Given the description of an element on the screen output the (x, y) to click on. 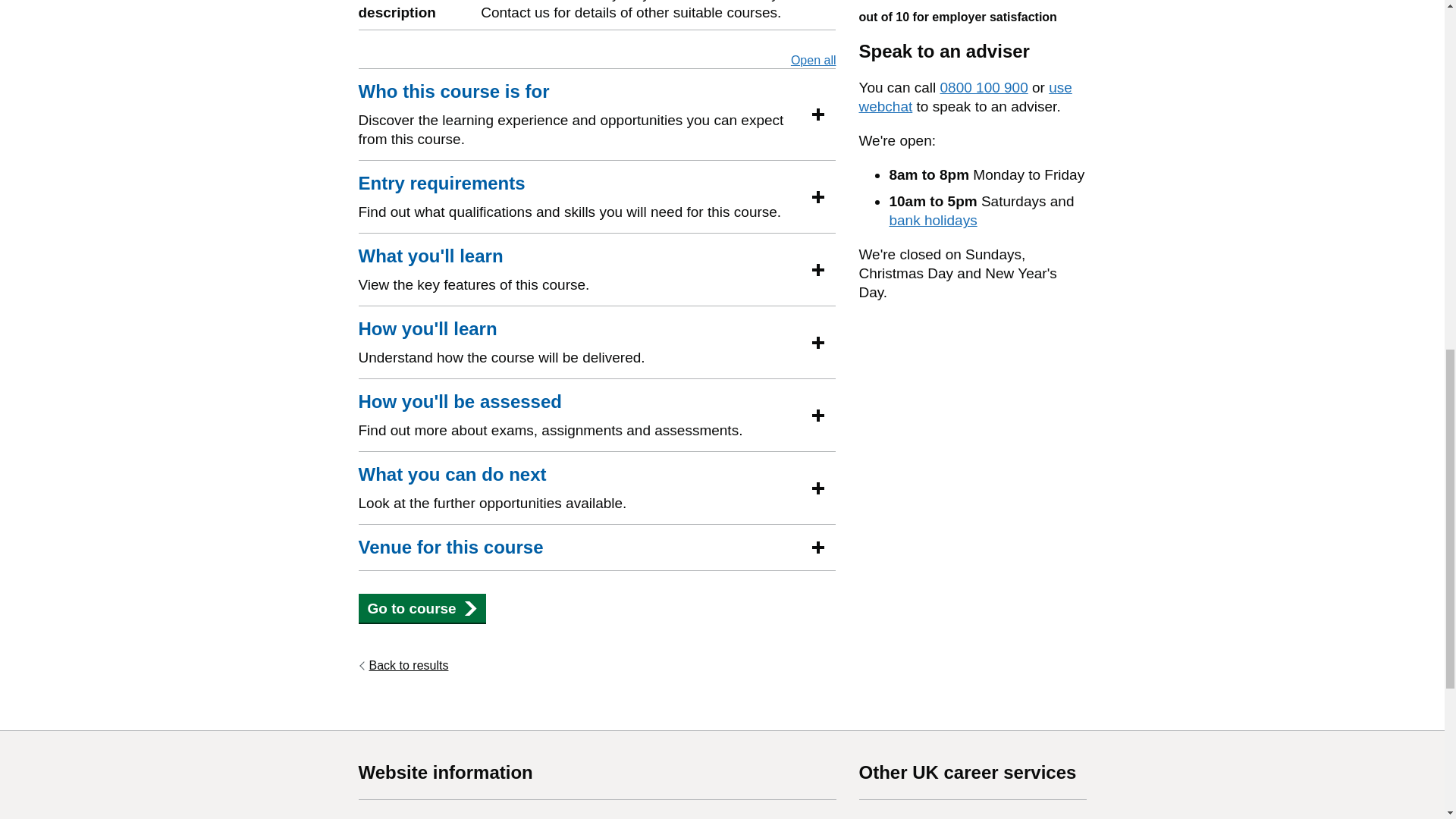
Who this course is for (453, 91)
What you can do next (452, 474)
Venue for this course (450, 547)
Back to results (403, 665)
Go to course (422, 607)
0800 100 900 (983, 87)
How you'll be assessed (459, 401)
use webchat (965, 96)
Entry requirements (441, 182)
bank holidays (932, 220)
How you'll learn (427, 328)
What you'll learn (430, 255)
